Given the description of an element on the screen output the (x, y) to click on. 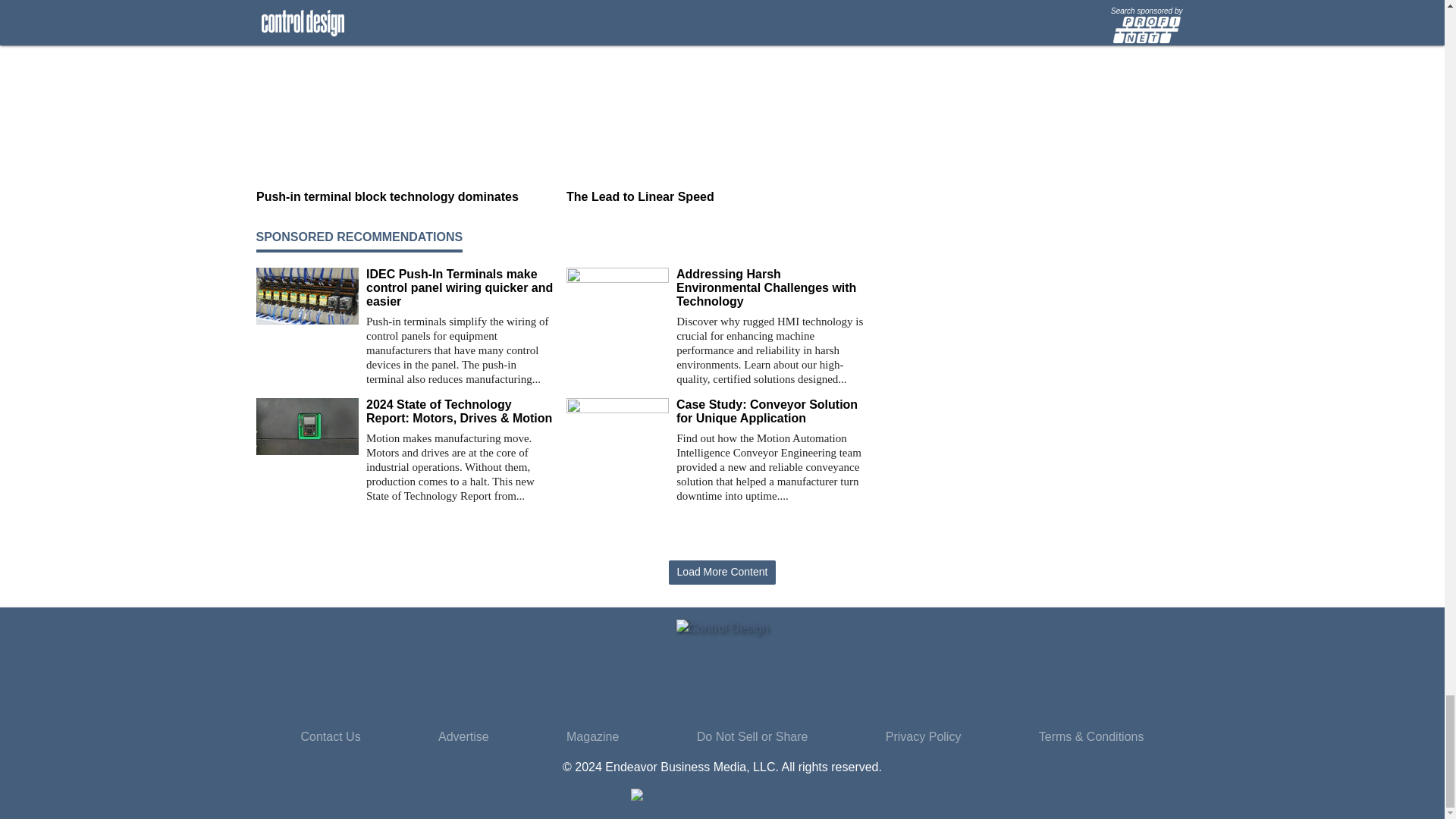
Addressing Harsh Environmental Challenges with Technology (770, 287)
The Lead to Linear Speed (715, 197)
Push-in terminal block technology dominates (405, 197)
Case Study: Conveyor Solution for Unique Application (770, 411)
